Given the description of an element on the screen output the (x, y) to click on. 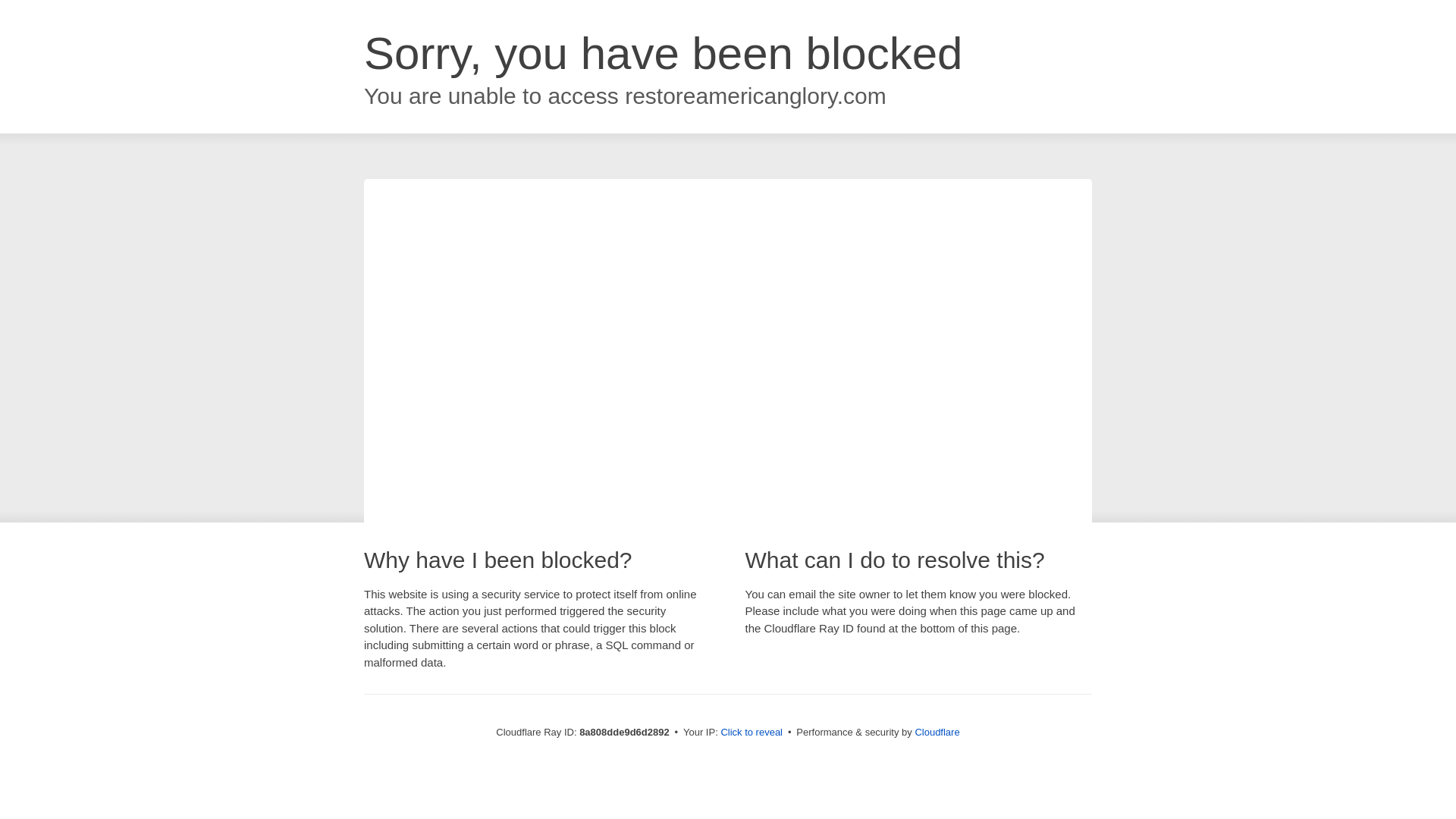
Cloudflare (936, 731)
Click to reveal (751, 732)
